Given the description of an element on the screen output the (x, y) to click on. 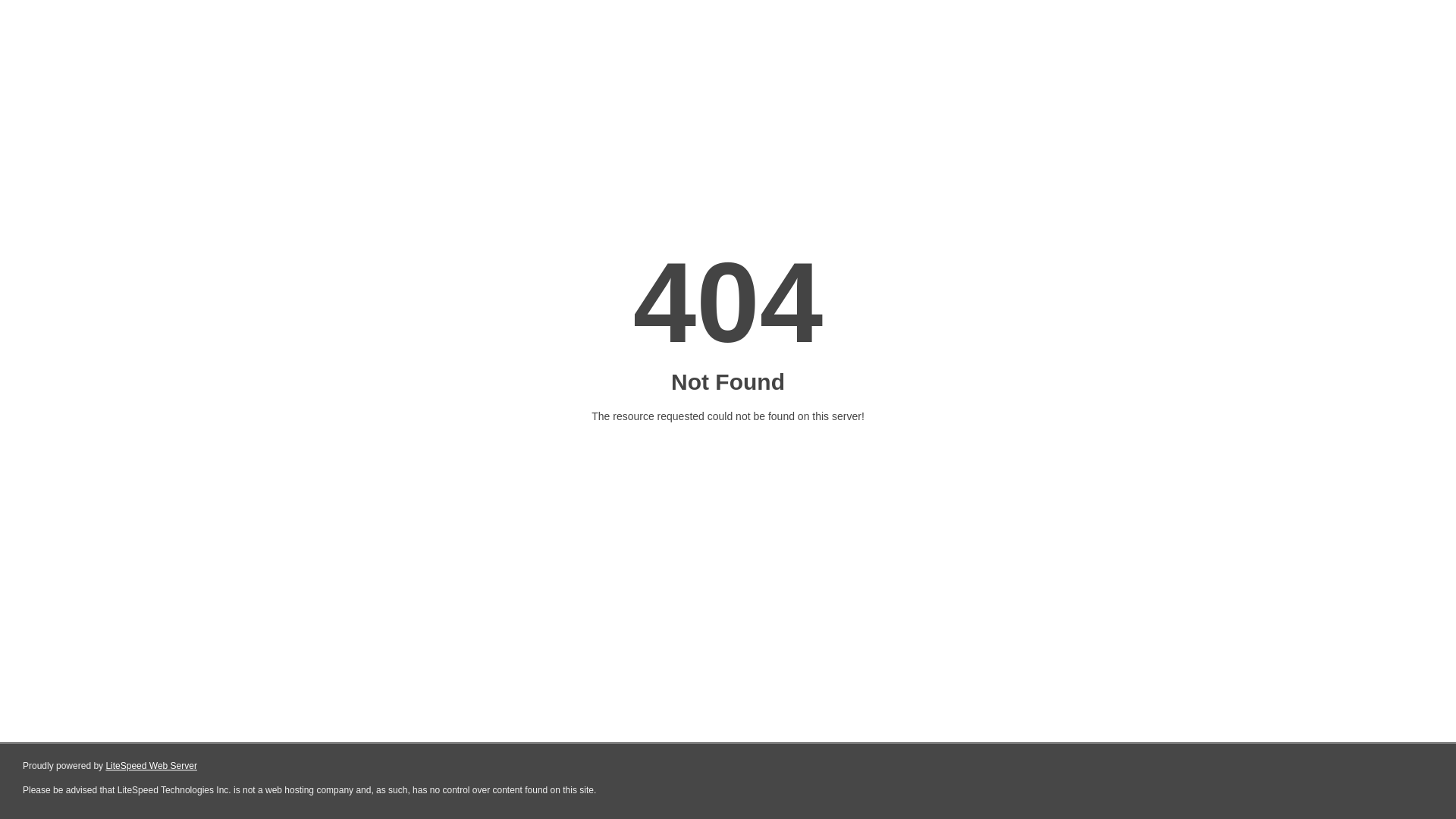
LiteSpeed Web Server Element type: text (151, 765)
